Given the description of an element on the screen output the (x, y) to click on. 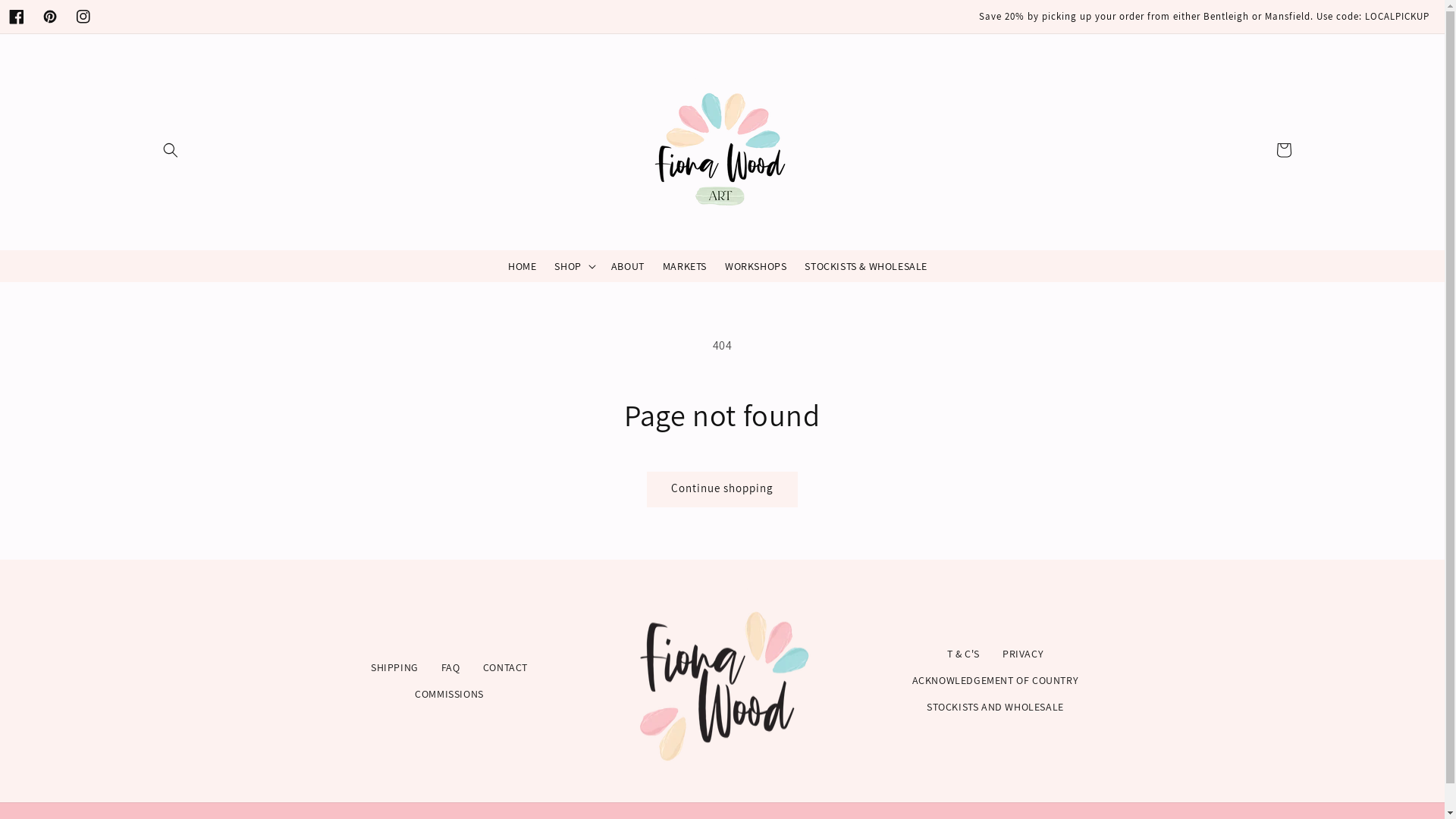
MARKETS Element type: text (684, 266)
STOCKISTS & WHOLESALE Element type: text (865, 266)
ABOUT Element type: text (627, 266)
CONTACT Element type: text (505, 667)
Instagram Element type: text (83, 16)
Pinterest Element type: text (49, 16)
COMMISSIONS Element type: text (448, 693)
Cart Element type: text (1282, 149)
PRIVACY Element type: text (1022, 653)
Continue shopping Element type: text (722, 489)
STOCKISTS AND WHOLESALE Element type: text (994, 706)
WORKSHOPS Element type: text (755, 266)
FAQ Element type: text (450, 667)
HOME Element type: text (521, 266)
Facebook Element type: text (16, 16)
SHIPPING Element type: text (394, 667)
ACKNOWLEDGEMENT OF COUNTRY Element type: text (995, 680)
T & C'S Element type: text (963, 653)
